Given the description of an element on the screen output the (x, y) to click on. 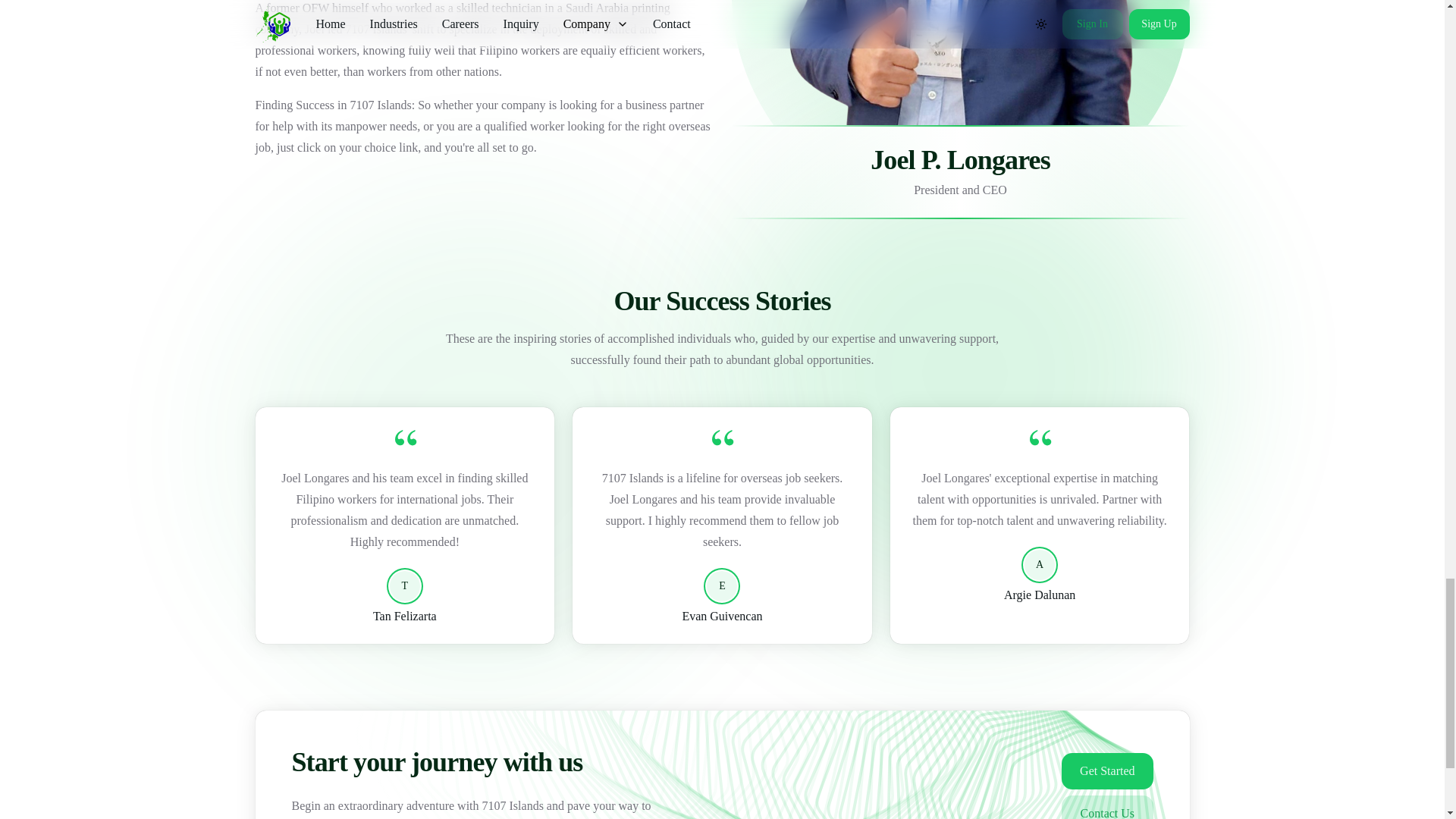
Get Started (1107, 770)
Contact Us (1107, 807)
